Given the description of an element on the screen output the (x, y) to click on. 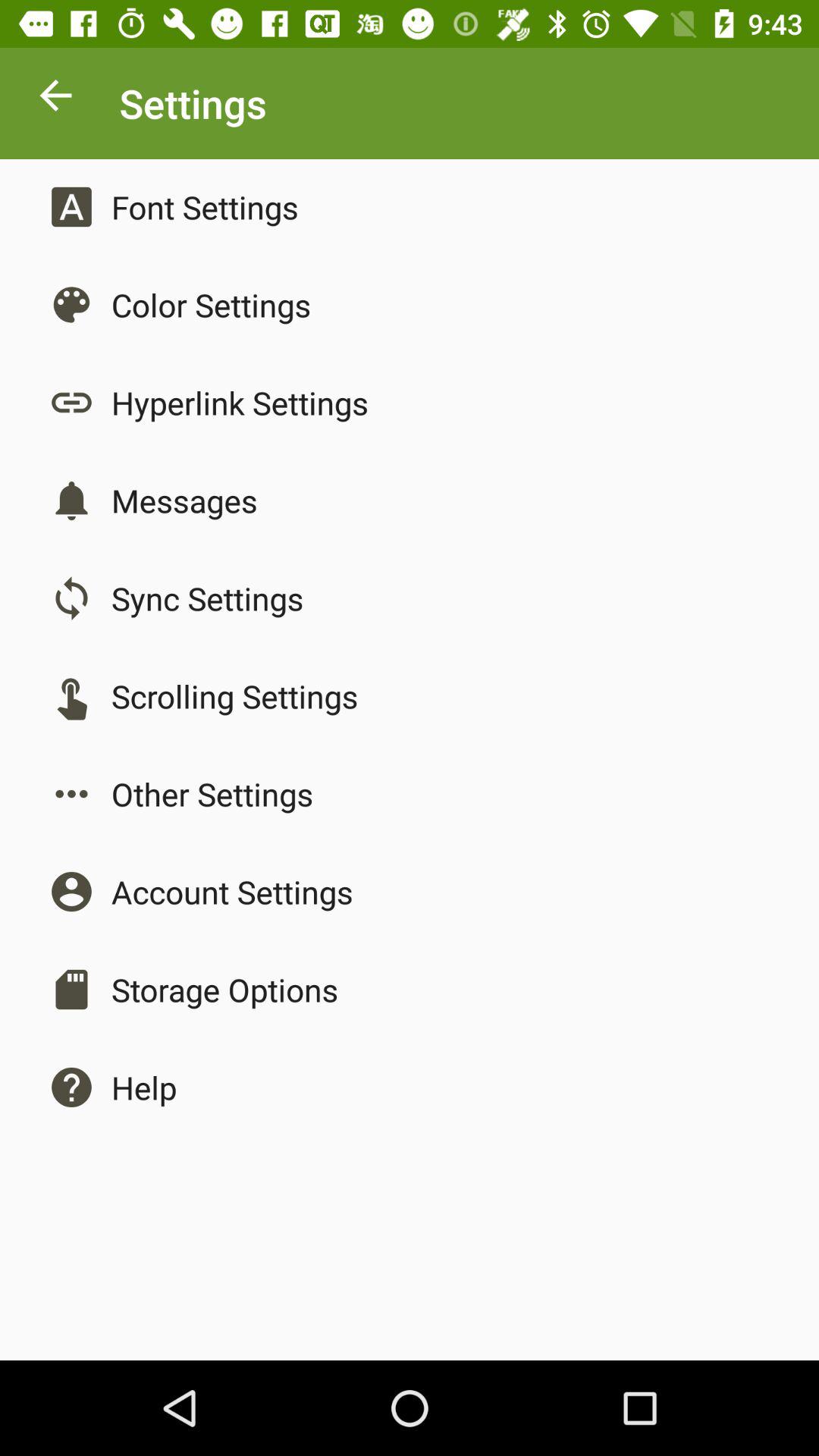
turn off the hyperlink settings item (239, 402)
